Given the description of an element on the screen output the (x, y) to click on. 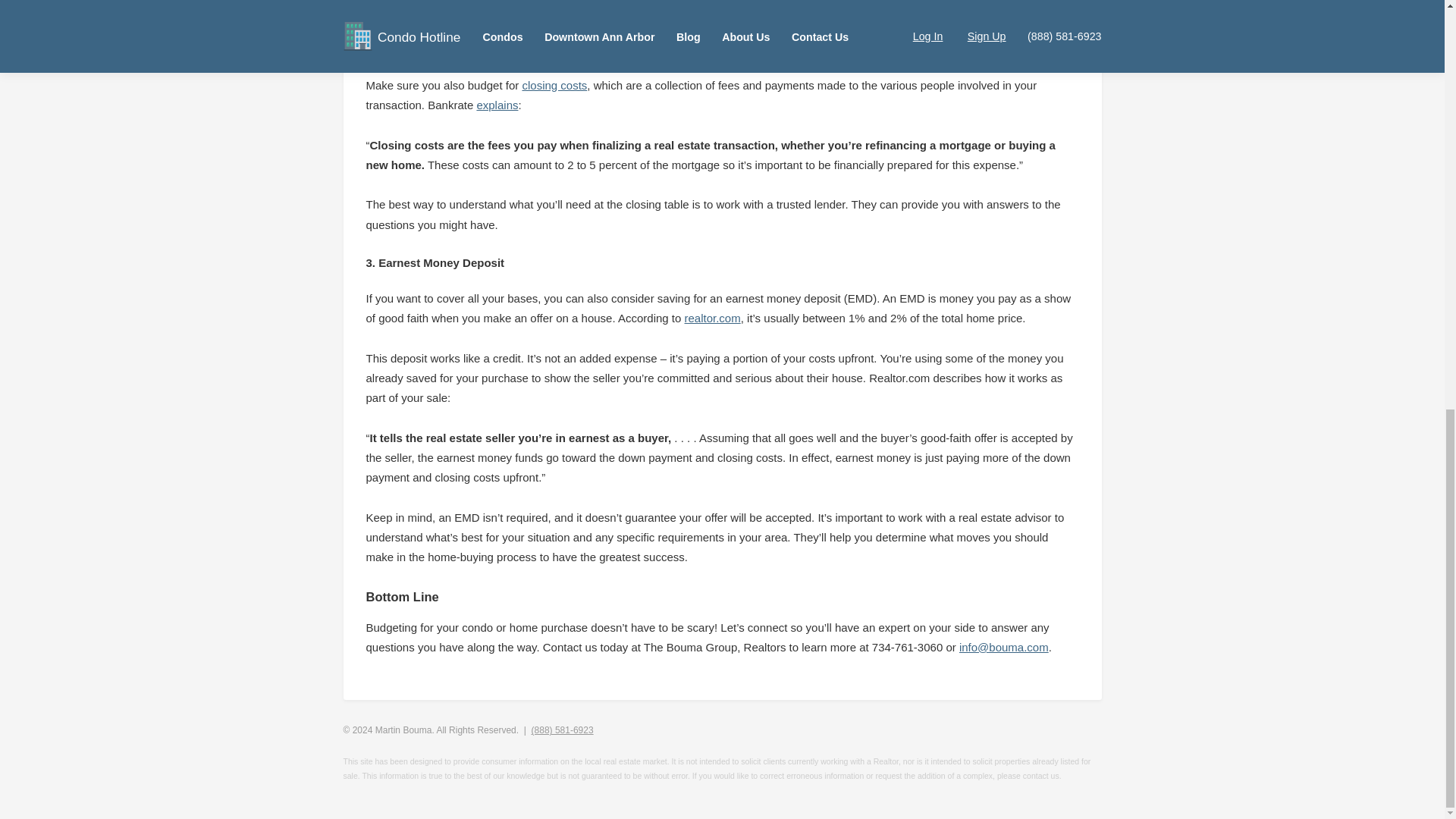
explains (497, 104)
realtor.com (712, 318)
closing costs (553, 84)
explains (497, 104)
realtor.com (712, 318)
closing costs (553, 84)
